Given the description of an element on the screen output the (x, y) to click on. 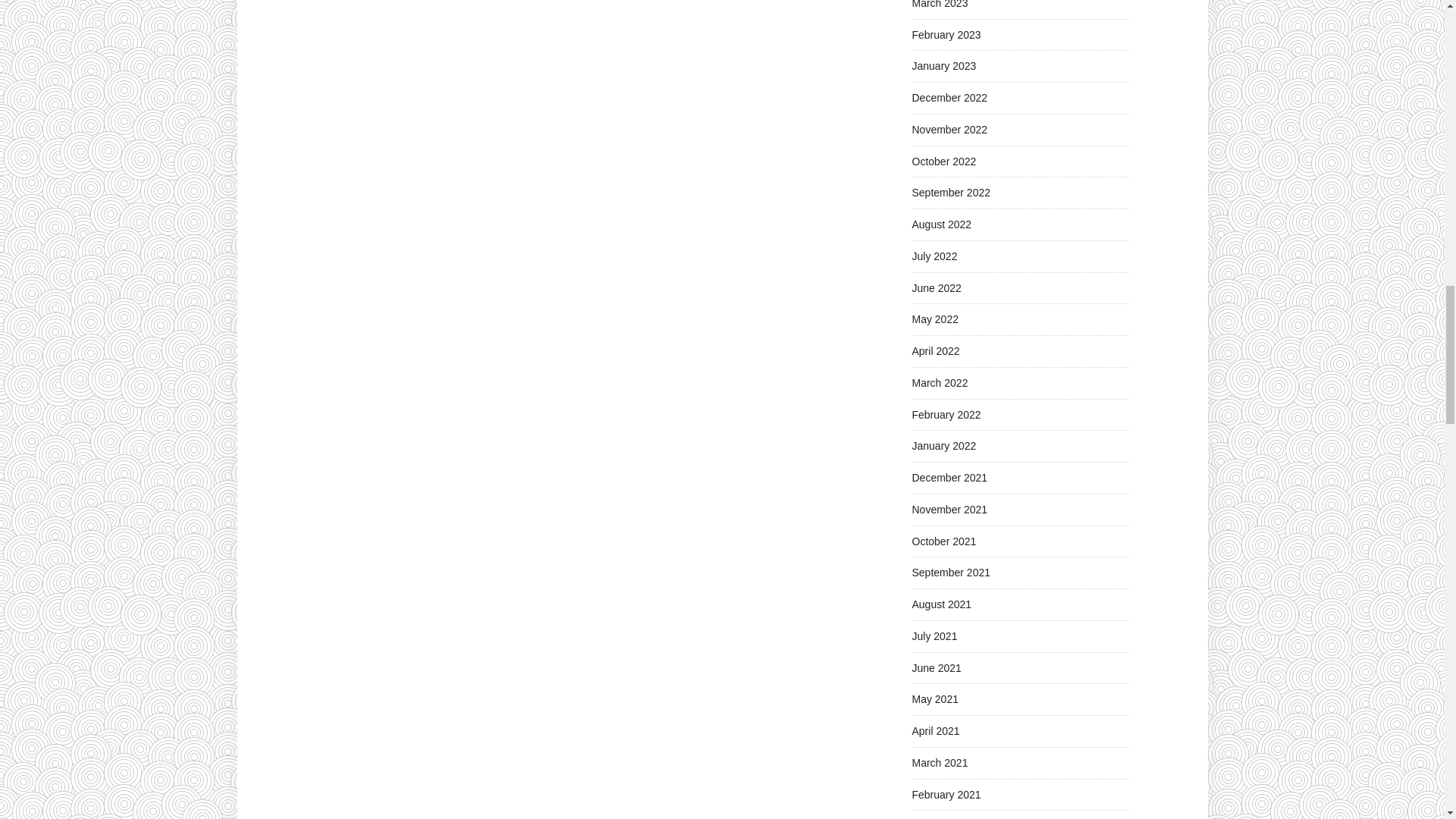
January 2023 (943, 65)
February 2023 (945, 34)
November 2022 (949, 129)
December 2022 (949, 97)
October 2022 (943, 160)
March 2023 (939, 4)
